Given the description of an element on the screen output the (x, y) to click on. 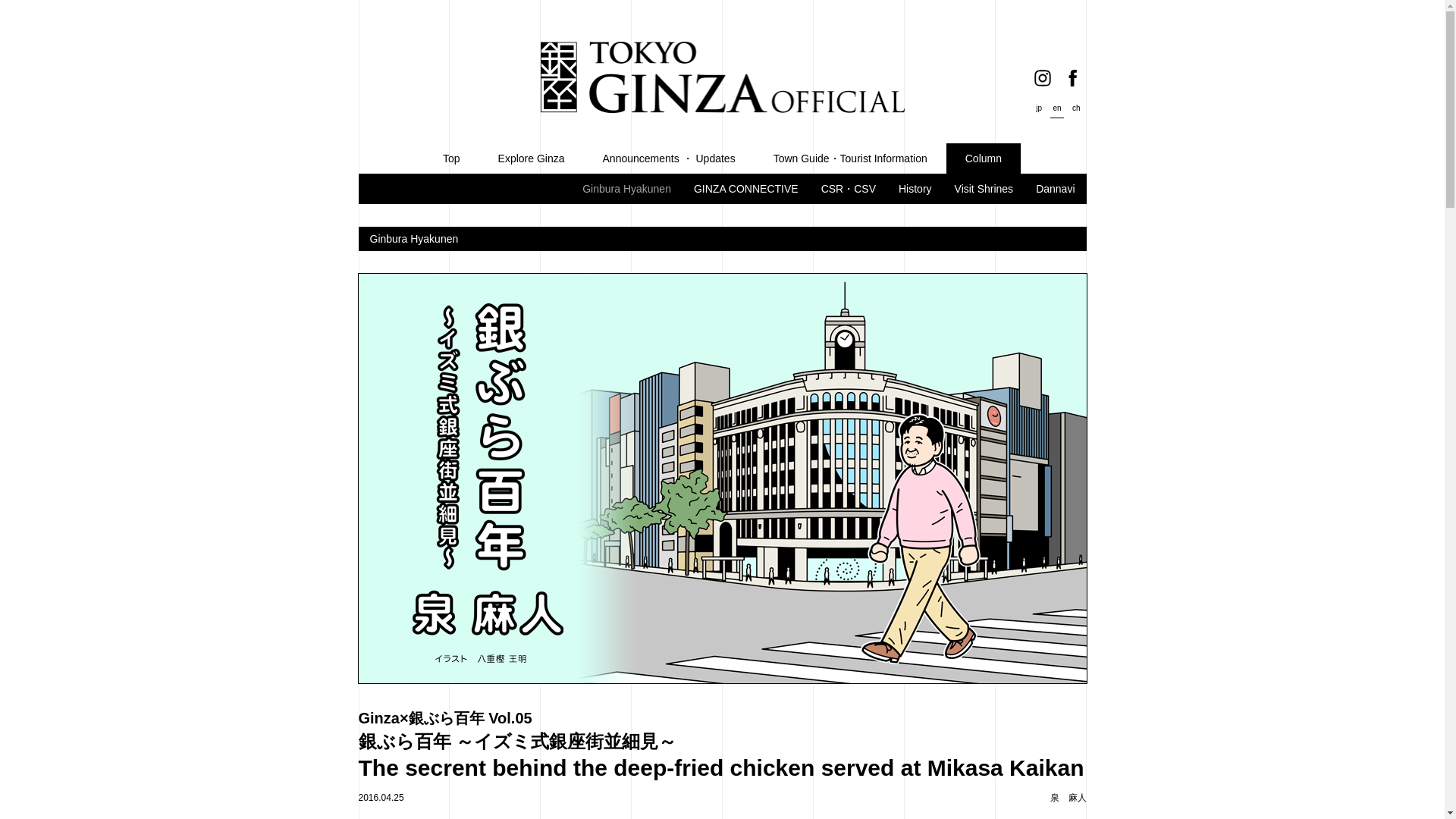
Dannavi (1054, 188)
GINZA CONNECTIVE (745, 188)
History (914, 188)
Visit Shrines (984, 188)
Ginbura Hyakunen (626, 188)
